Given the description of an element on the screen output the (x, y) to click on. 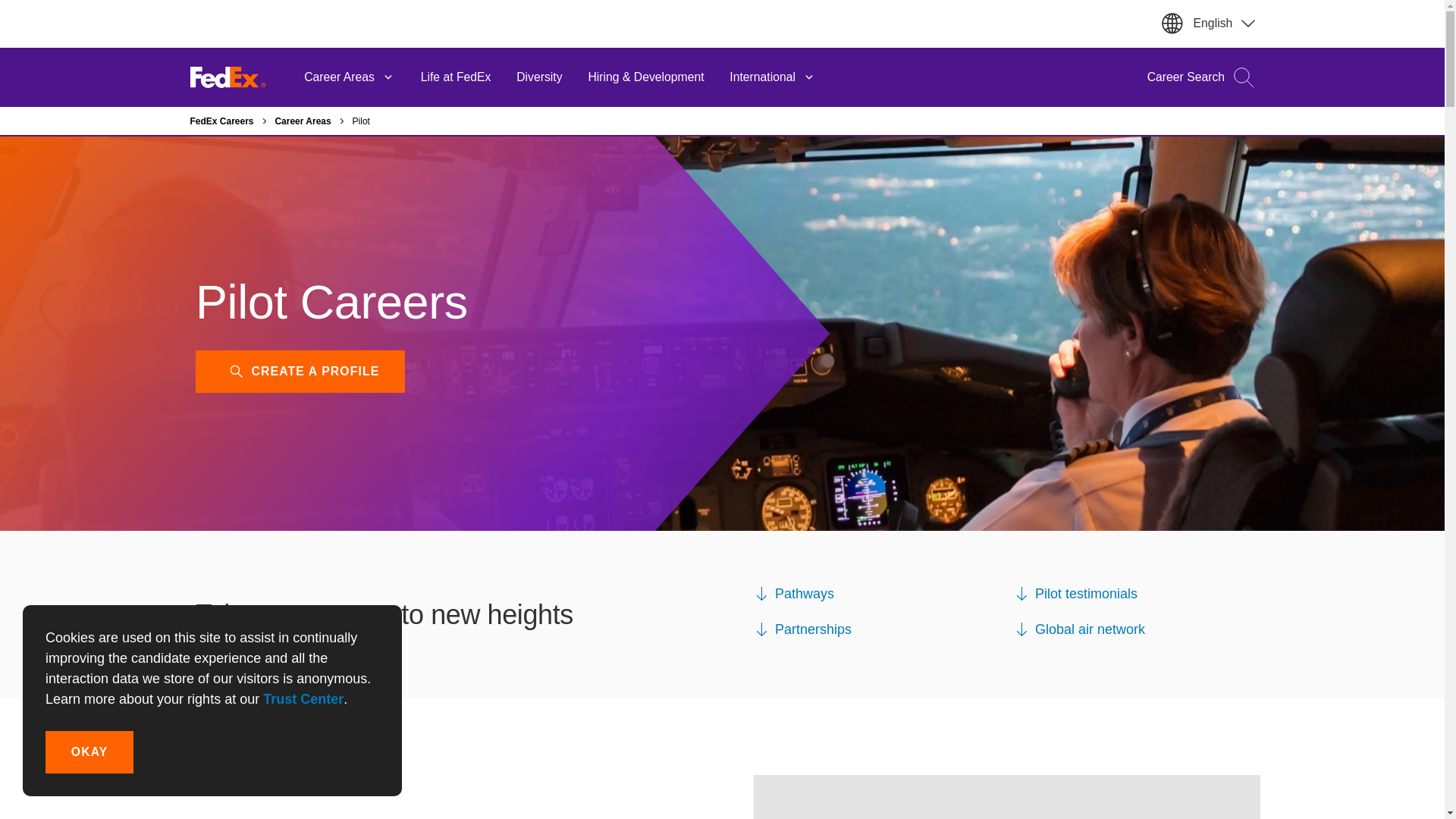
English (1224, 23)
Career Search (1194, 76)
Life at FedEx (455, 76)
International (772, 76)
Diversity (539, 76)
Career Areas (349, 76)
